Given the description of an element on the screen output the (x, y) to click on. 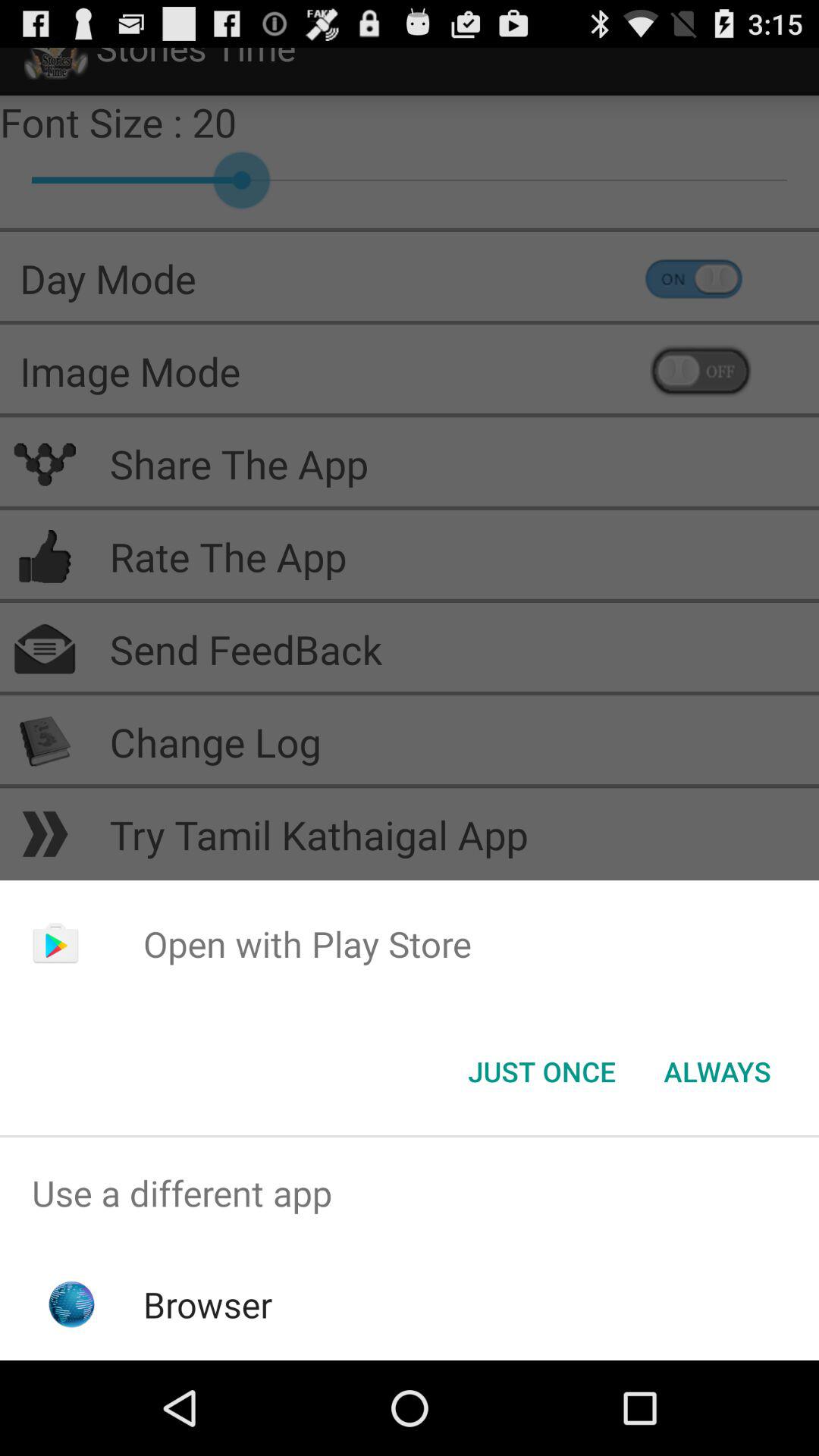
tap icon below the open with play app (541, 1071)
